Given the description of an element on the screen output the (x, y) to click on. 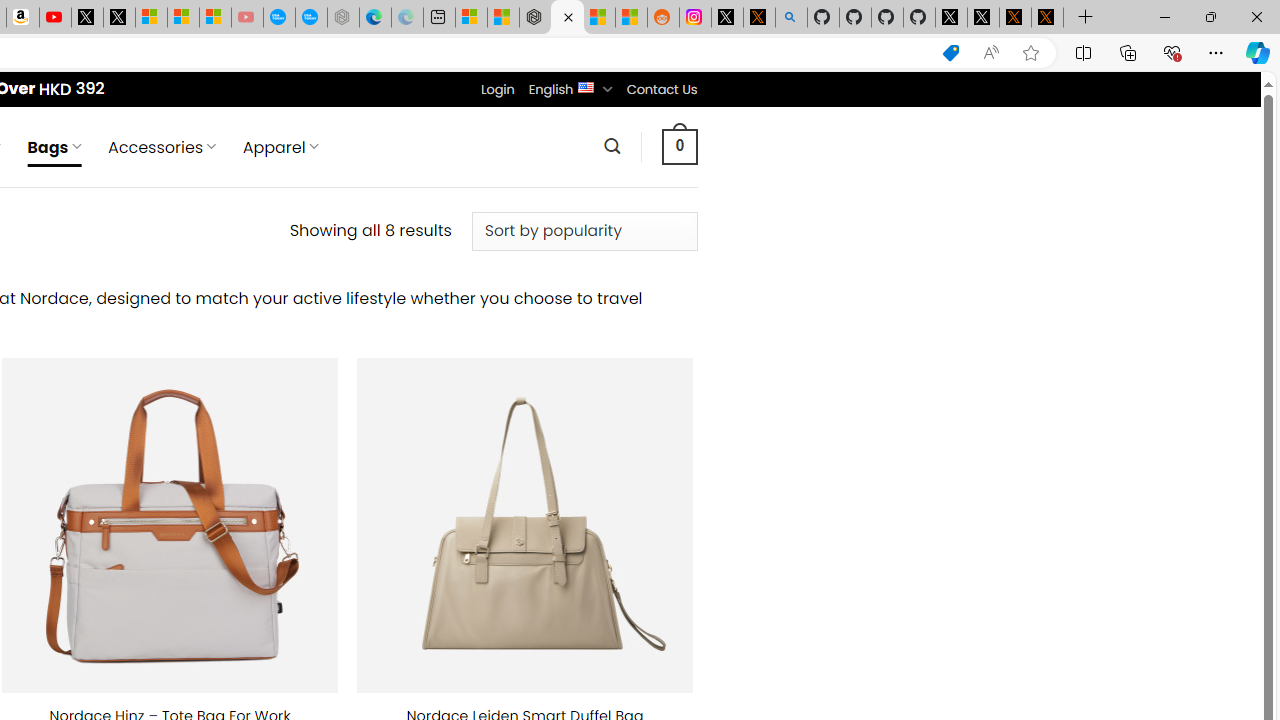
Login (497, 89)
Nordace - Nordace has arrived Hong Kong - Sleeping (343, 17)
 0  (679, 146)
